Given the description of an element on the screen output the (x, y) to click on. 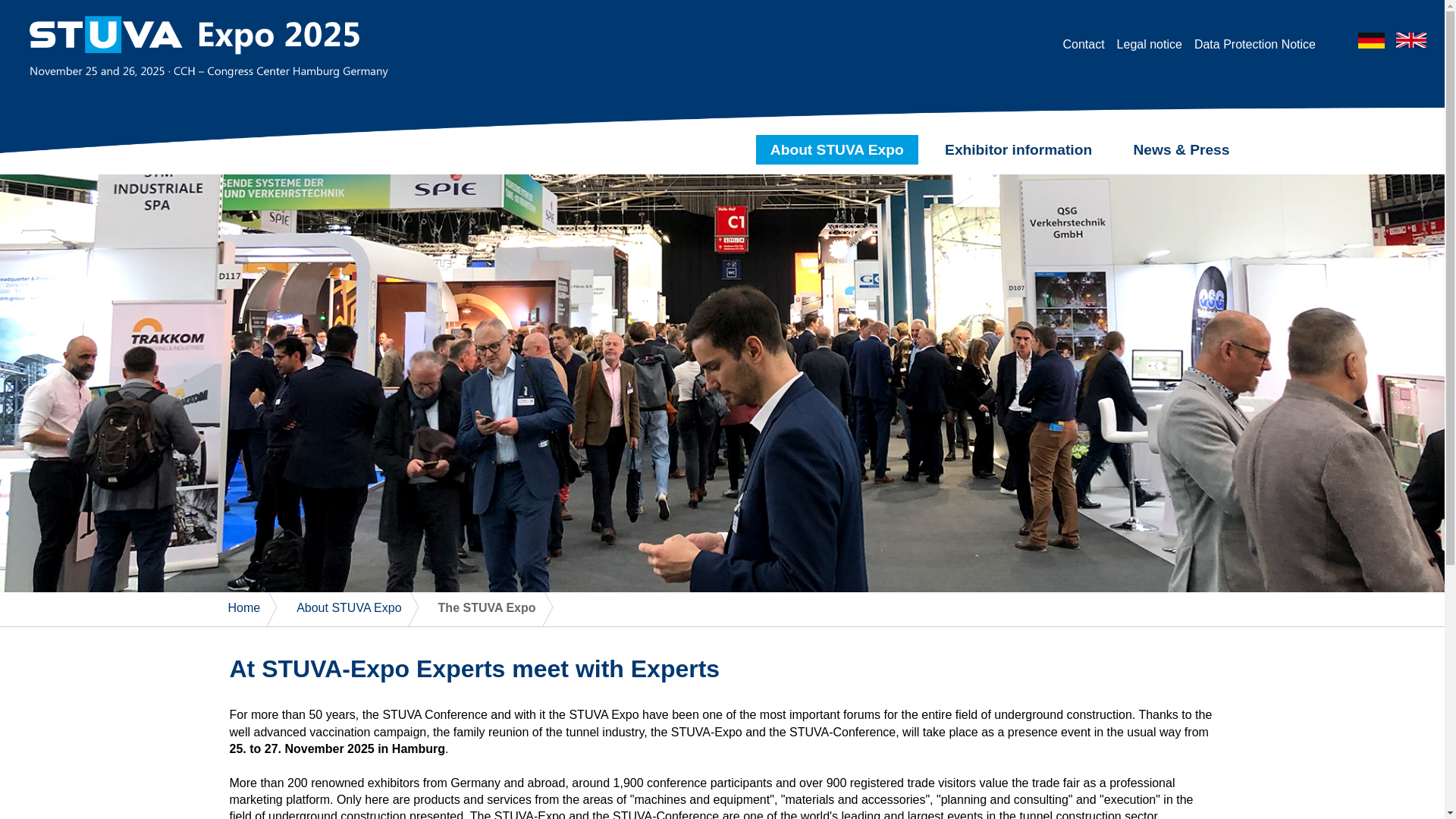
Data Protection Notice (1254, 43)
Legal notice (1149, 43)
DE (1373, 43)
Data Protection Notice (1254, 43)
STUVA Expo 2019 (243, 607)
Contact (1082, 43)
Home (243, 607)
Contact (1082, 43)
About STUVA Expo (349, 607)
